Given the description of an element on the screen output the (x, y) to click on. 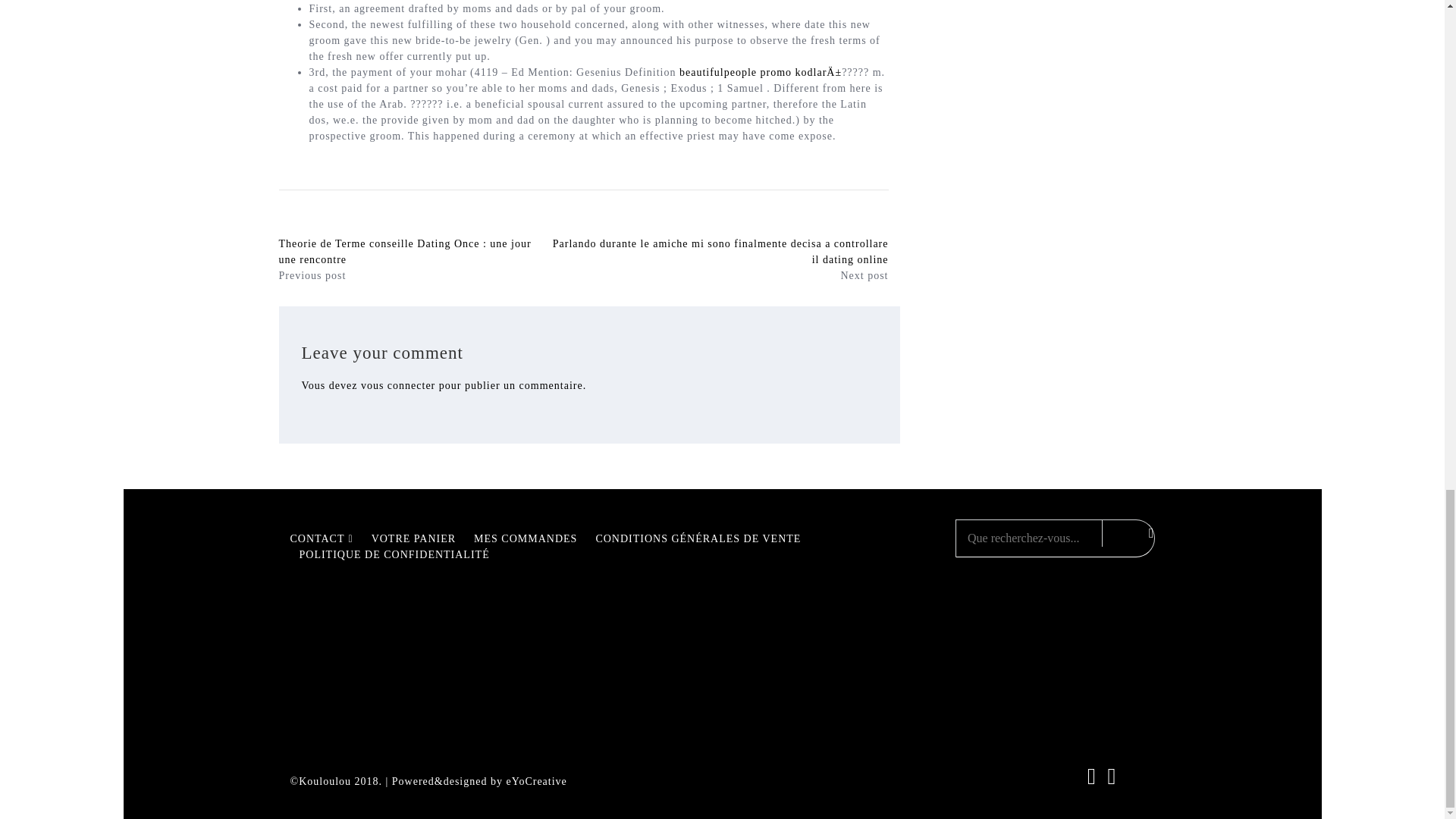
Search (1123, 533)
Search (1123, 533)
